Given the description of an element on the screen output the (x, y) to click on. 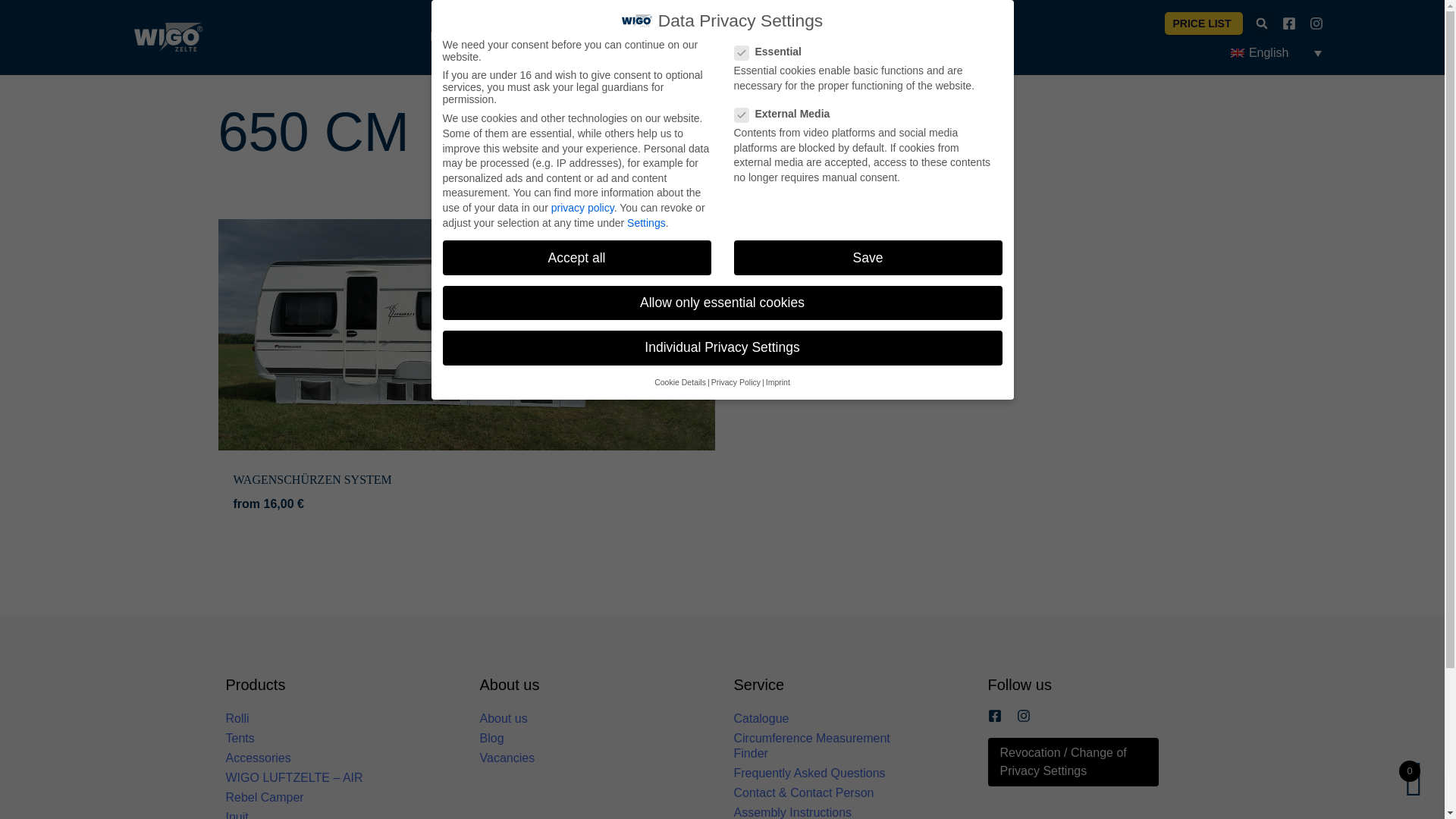
HOME PAGE (465, 36)
